Given the description of an element on the screen output the (x, y) to click on. 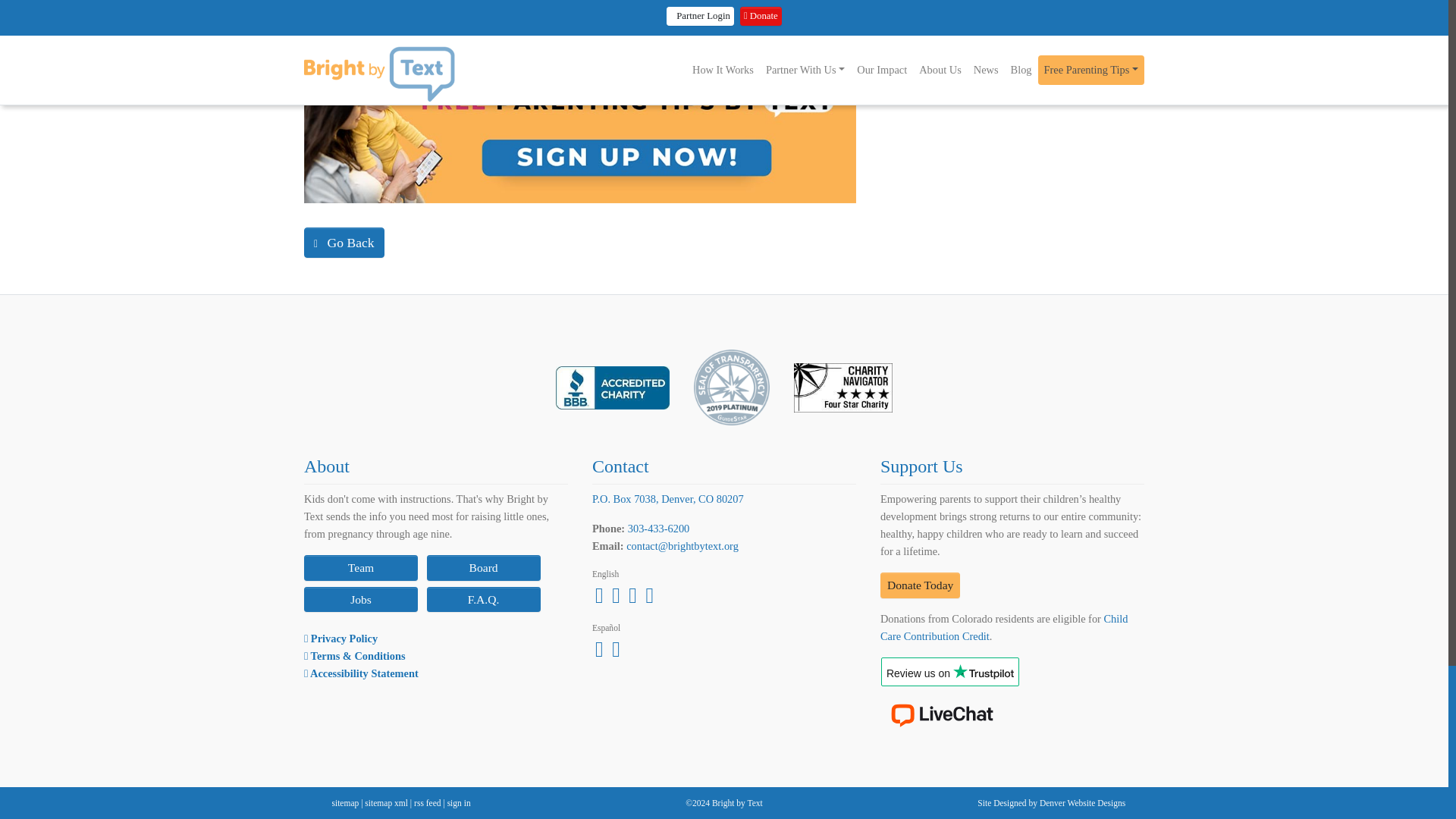
F.A.Q. (483, 599)
Go Back (344, 242)
P.O. Box 7038, Denver, CO 80207 (668, 499)
Contact (620, 465)
Board (483, 567)
About (326, 465)
Privacy Policy (340, 638)
Accessibility Statement (361, 673)
Jobs (360, 599)
303-433-6200 (658, 528)
Team (360, 567)
